Given the description of an element on the screen output the (x, y) to click on. 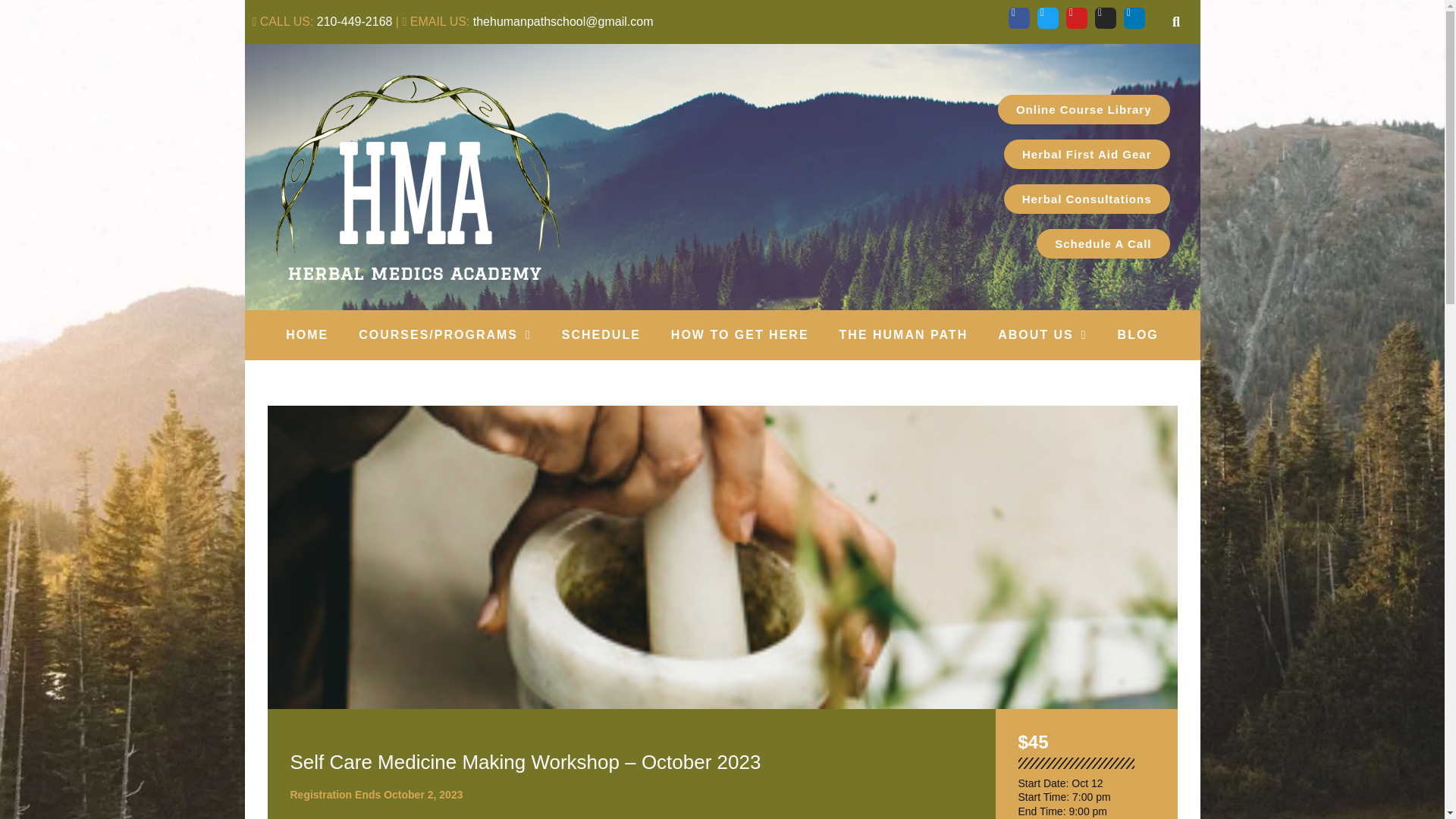
Herbal Consultations (1087, 198)
HOME (306, 334)
BLOG (1137, 334)
THE HUMAN PATH (904, 334)
Herbal First Aid Gear (1087, 153)
ABOUT US (1042, 334)
210-449-2168 (355, 21)
Schedule A Call (1102, 243)
SCHEDULE (601, 334)
HOW TO GET HERE (740, 334)
